Given the description of an element on the screen output the (x, y) to click on. 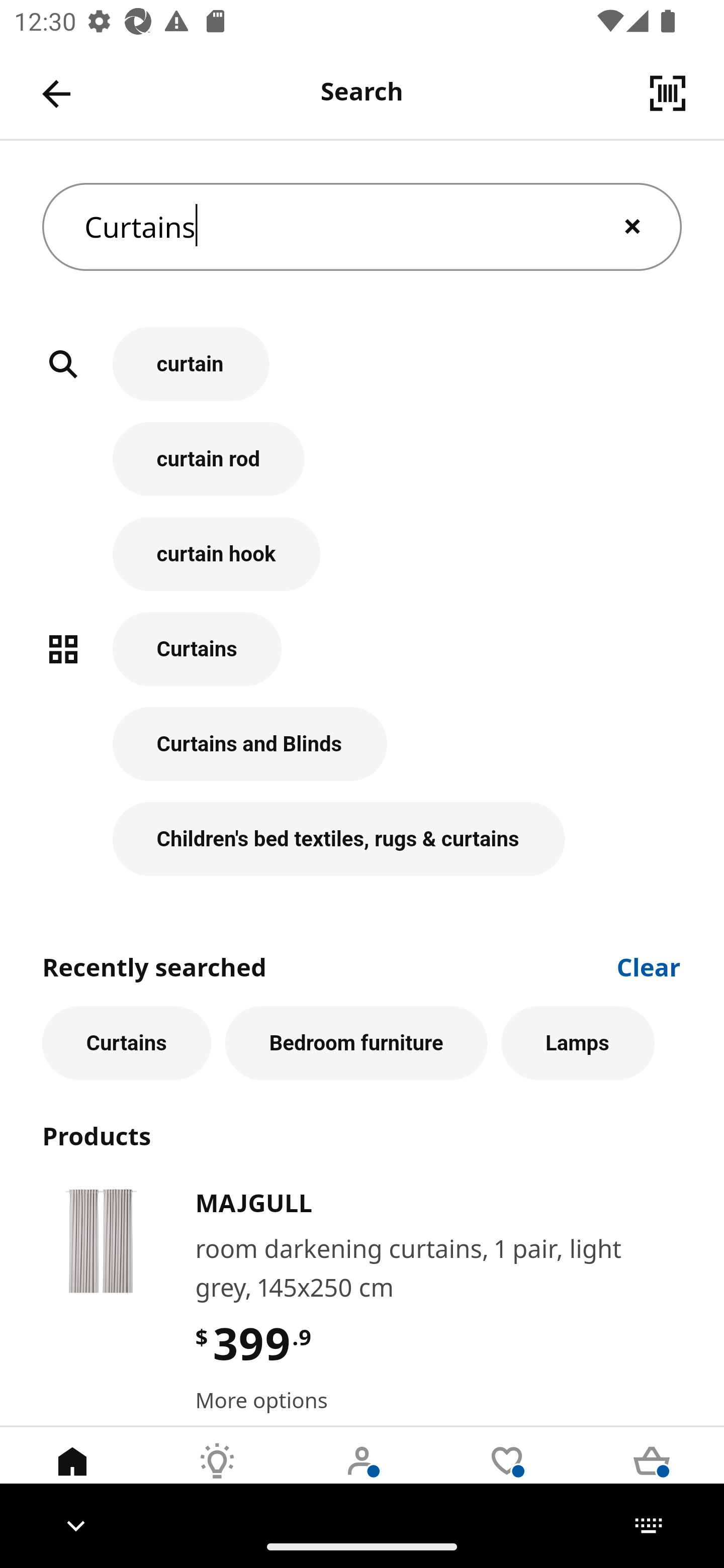
Curtains (361, 227)
curtain (361, 374)
curtain rod (361, 469)
curtain hook (361, 564)
Curtains (361, 659)
Curtains and Blinds (361, 754)
Children's bed textiles, rugs & curtains (361, 839)
Clear (649, 965)
Curtains (126, 1043)
Bedroom furniture (356, 1043)
Lamps (577, 1043)
Home
Tab 1 of 5 (72, 1476)
Inspirations
Tab 2 of 5 (216, 1476)
User
Tab 3 of 5 (361, 1476)
Wishlist
Tab 4 of 5 (506, 1476)
Cart
Tab 5 of 5 (651, 1476)
